Given the description of an element on the screen output the (x, y) to click on. 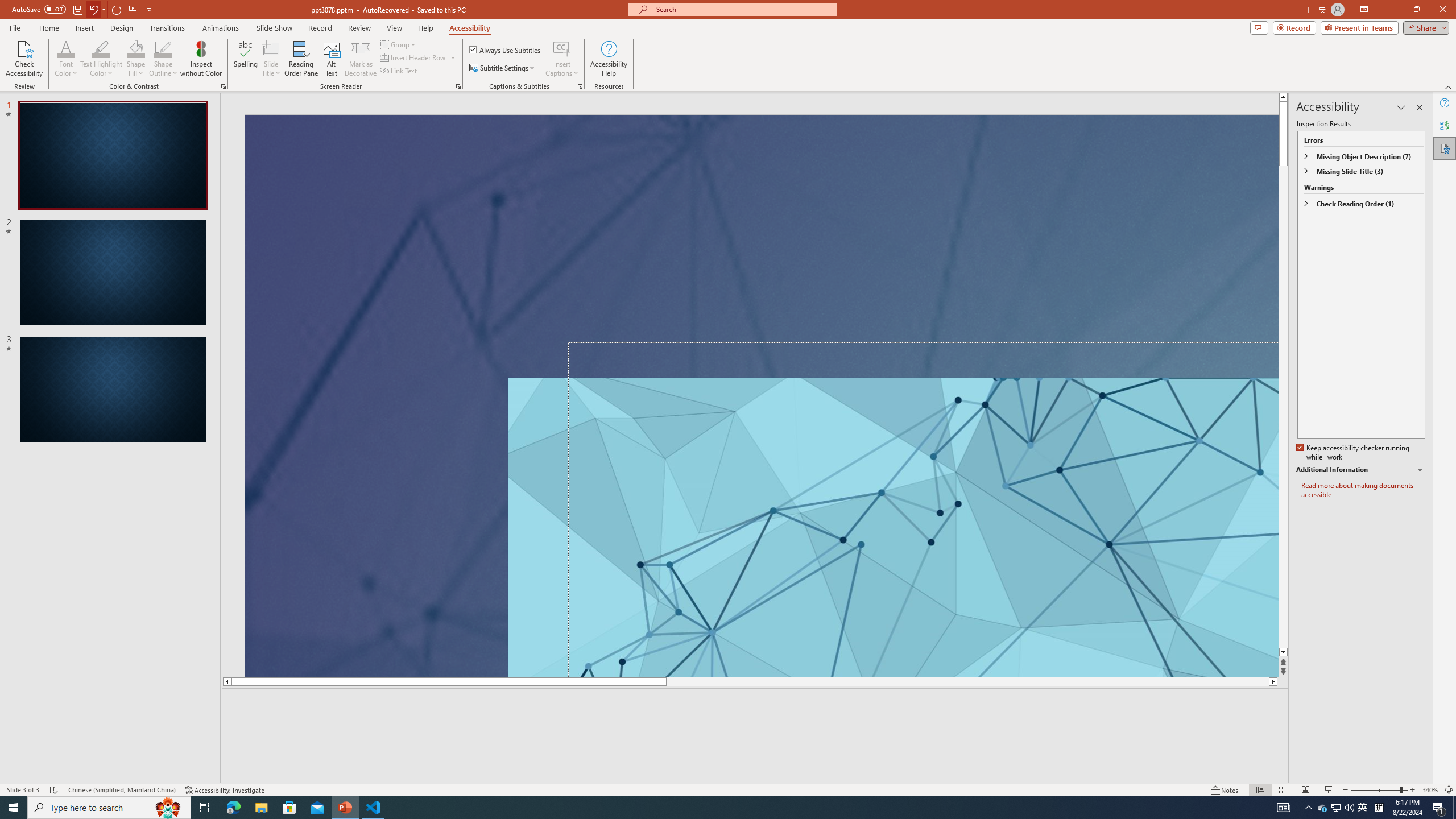
Title TextBox (922, 509)
Shape Outline (163, 58)
Insert Captions (561, 58)
